Given the description of an element on the screen output the (x, y) to click on. 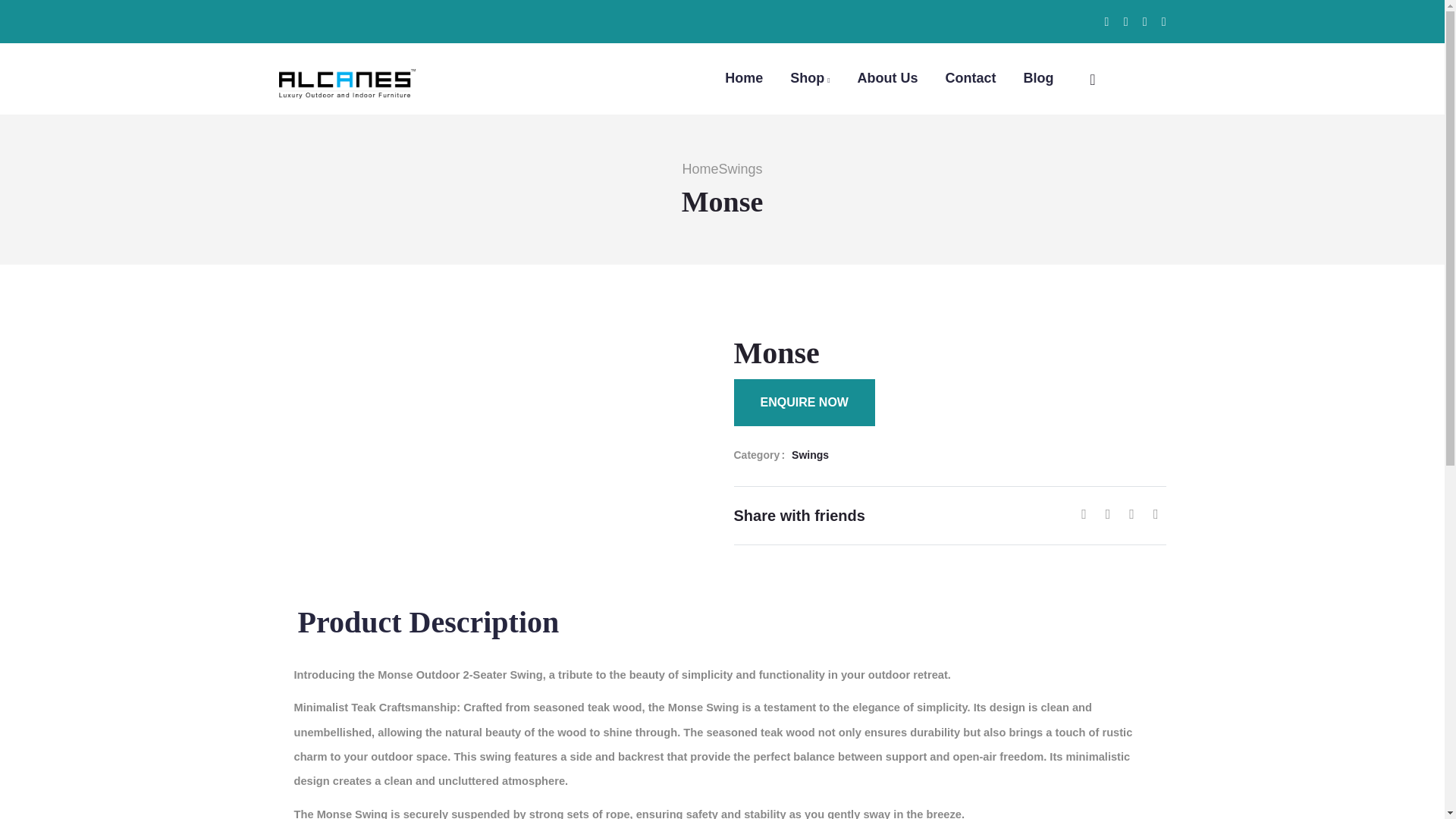
Home (346, 74)
Swings (739, 168)
Contact (969, 78)
Category (762, 454)
ENQUIRE NOW (804, 402)
About Us (887, 78)
Blog (1038, 78)
Shop (809, 78)
Home (743, 78)
Home (699, 168)
